Given the description of an element on the screen output the (x, y) to click on. 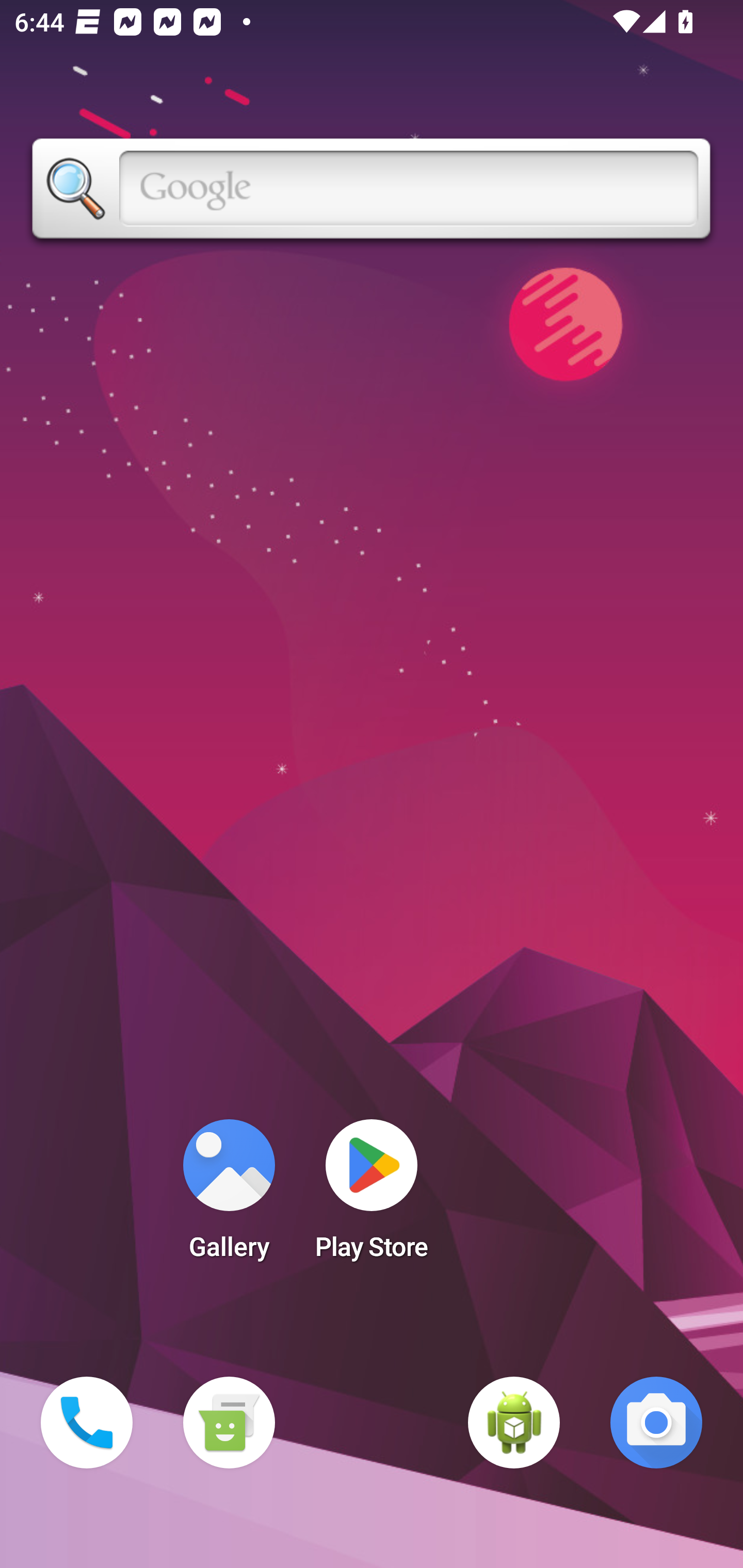
Gallery (228, 1195)
Play Store (371, 1195)
Phone (86, 1422)
Messaging (228, 1422)
WebView Browser Tester (513, 1422)
Camera (656, 1422)
